Given the description of an element on the screen output the (x, y) to click on. 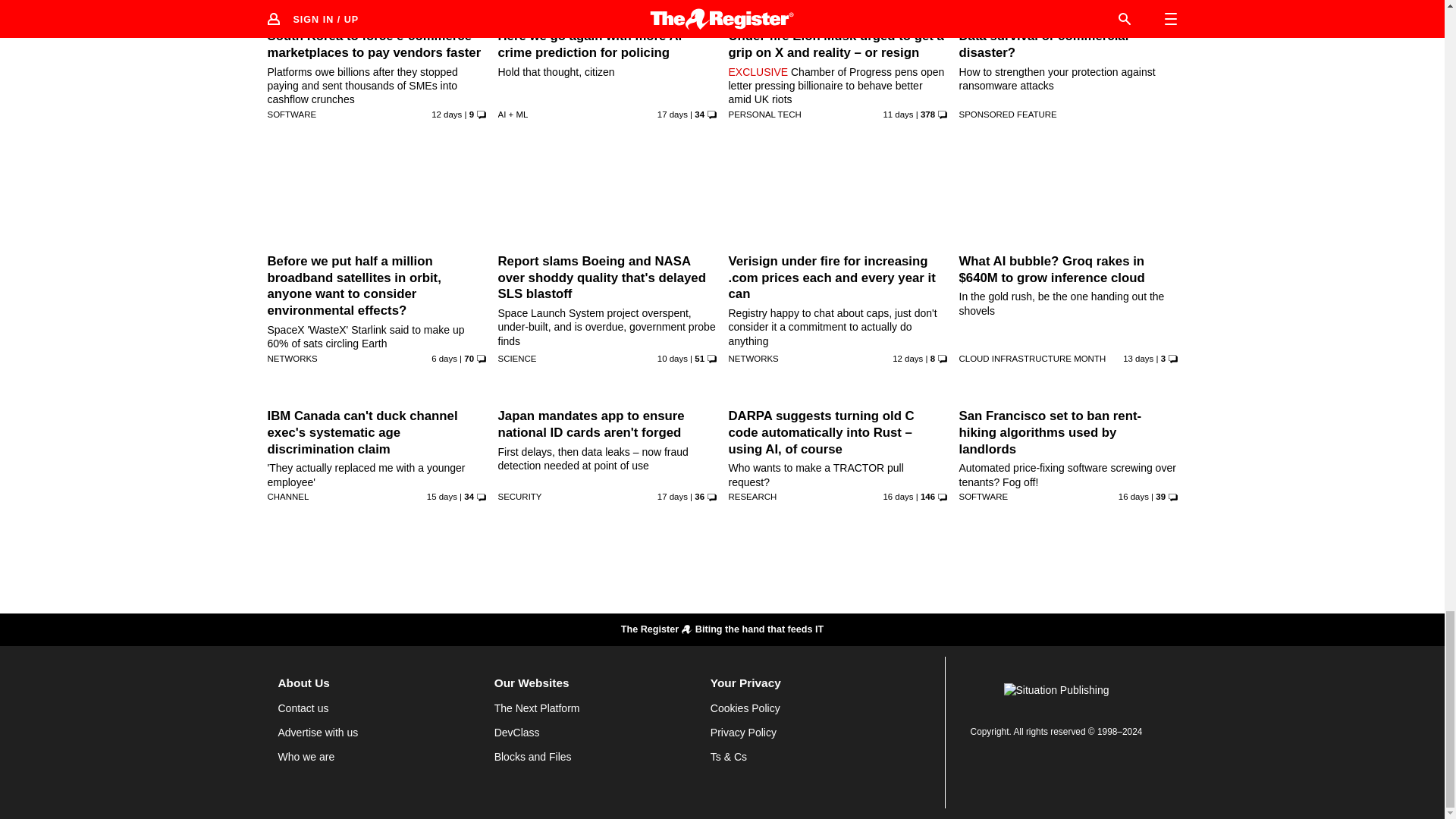
12 Aug 2024 21:31 (443, 358)
6 Aug 2024 19:20 (907, 358)
7 Aug 2024 5:58 (445, 113)
7 Aug 2024 20:18 (897, 113)
4 Aug 2024 17:20 (441, 496)
9 Aug 2024 1:31 (672, 358)
5 Aug 2024 20:28 (1137, 358)
1 Aug 2024 20:40 (672, 113)
